Given the description of an element on the screen output the (x, y) to click on. 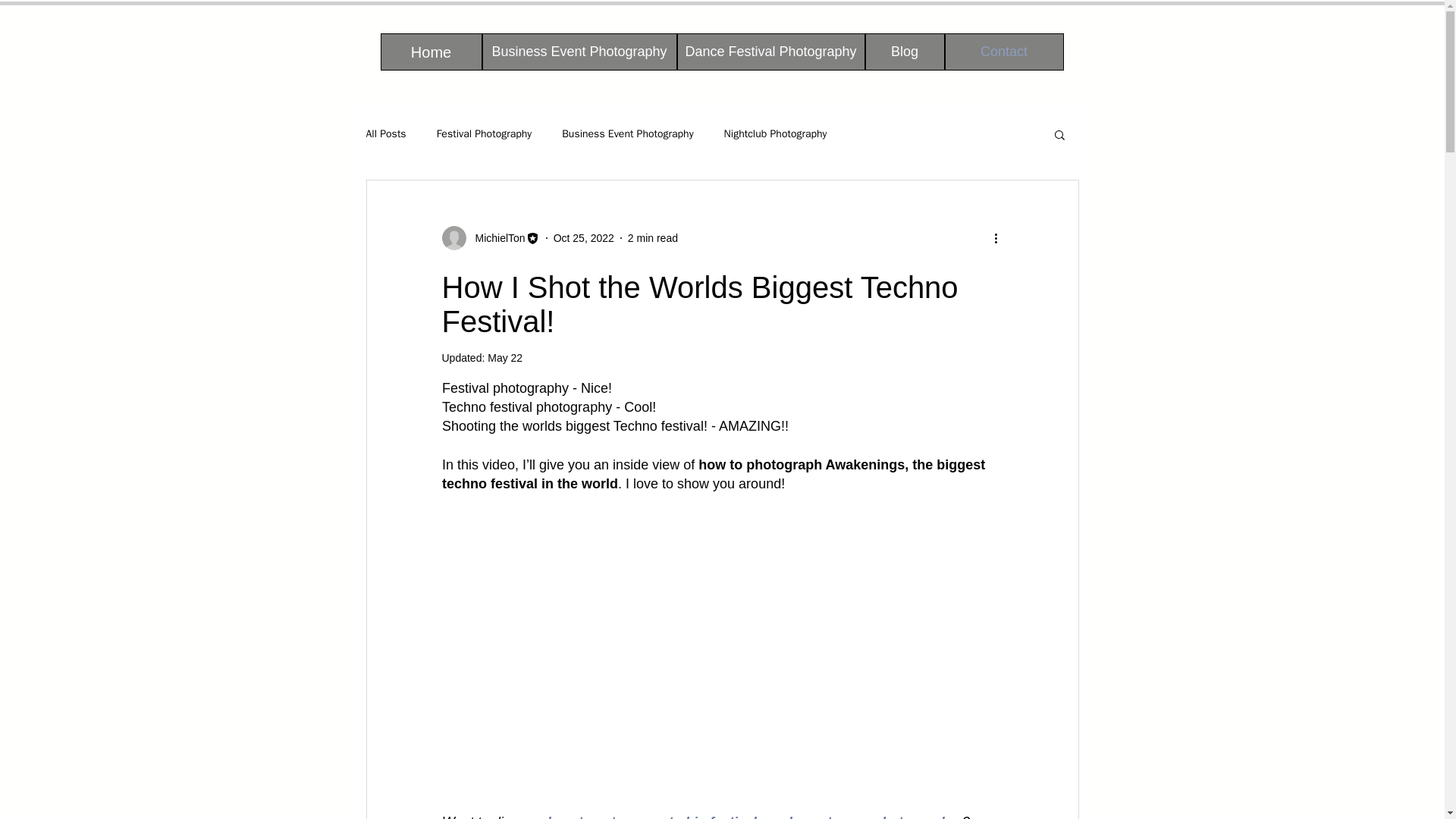
MichielTon (494, 238)
MichielTon (489, 238)
Business Event Photography (627, 133)
2 min read (652, 237)
May 22 (504, 357)
Contact (1004, 51)
Festival Photography (484, 133)
Dance Festival Photography (770, 51)
Nightclub Photography (775, 133)
All Posts (385, 133)
Home (430, 51)
Oct 25, 2022 (583, 237)
ricos-video (722, 552)
Business Event Photography (579, 51)
